Given the description of an element on the screen output the (x, y) to click on. 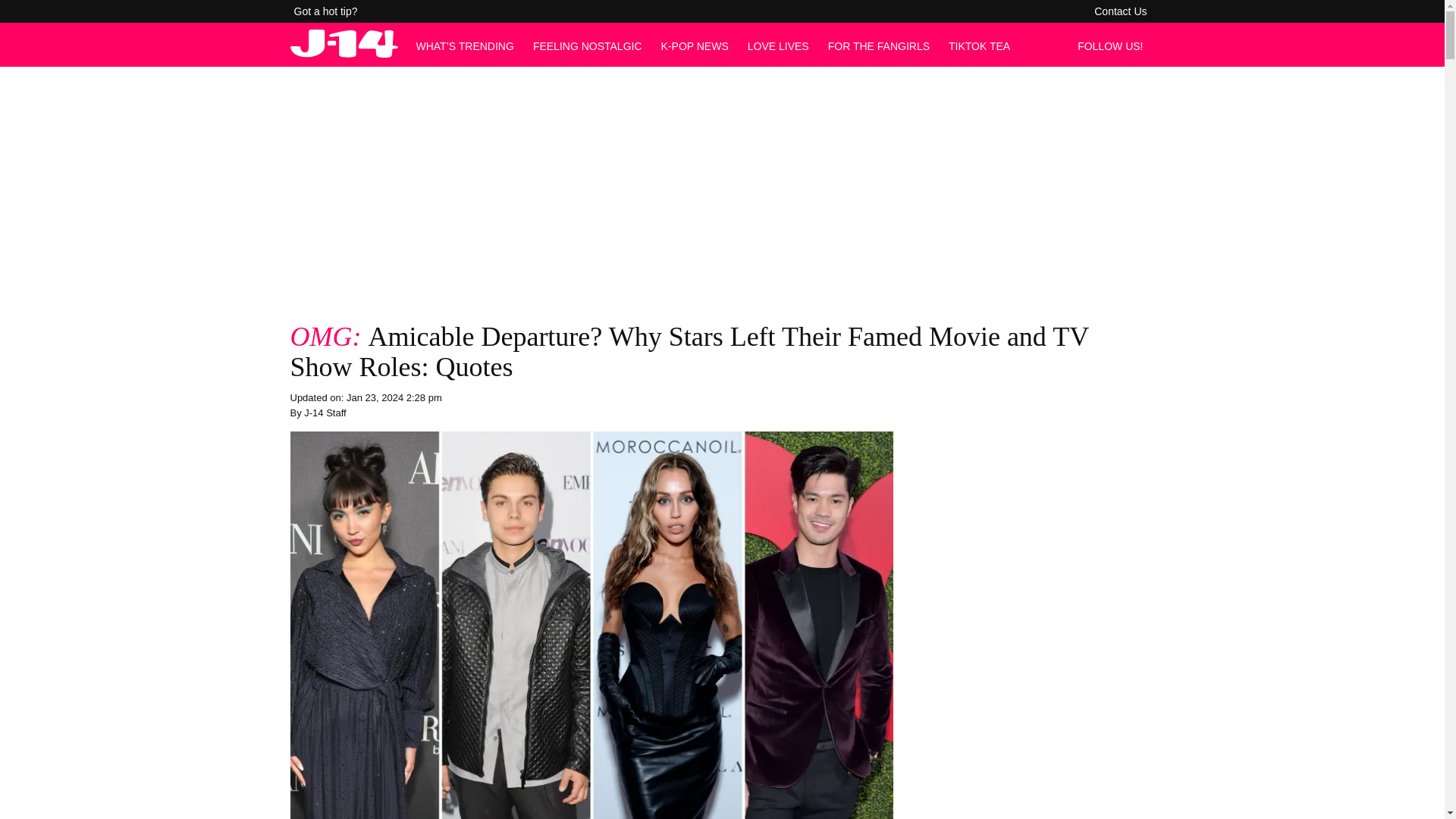
FOR THE FANGIRLS (879, 46)
FOLLOW US! (1114, 45)
TIKTOK TEA (979, 46)
Contact Us (1120, 11)
Home (343, 52)
Got a hot tip? (325, 11)
FEELING NOSTALGIC (587, 46)
LOVE LIVES (778, 46)
K-POP NEWS (695, 46)
